Given the description of an element on the screen output the (x, y) to click on. 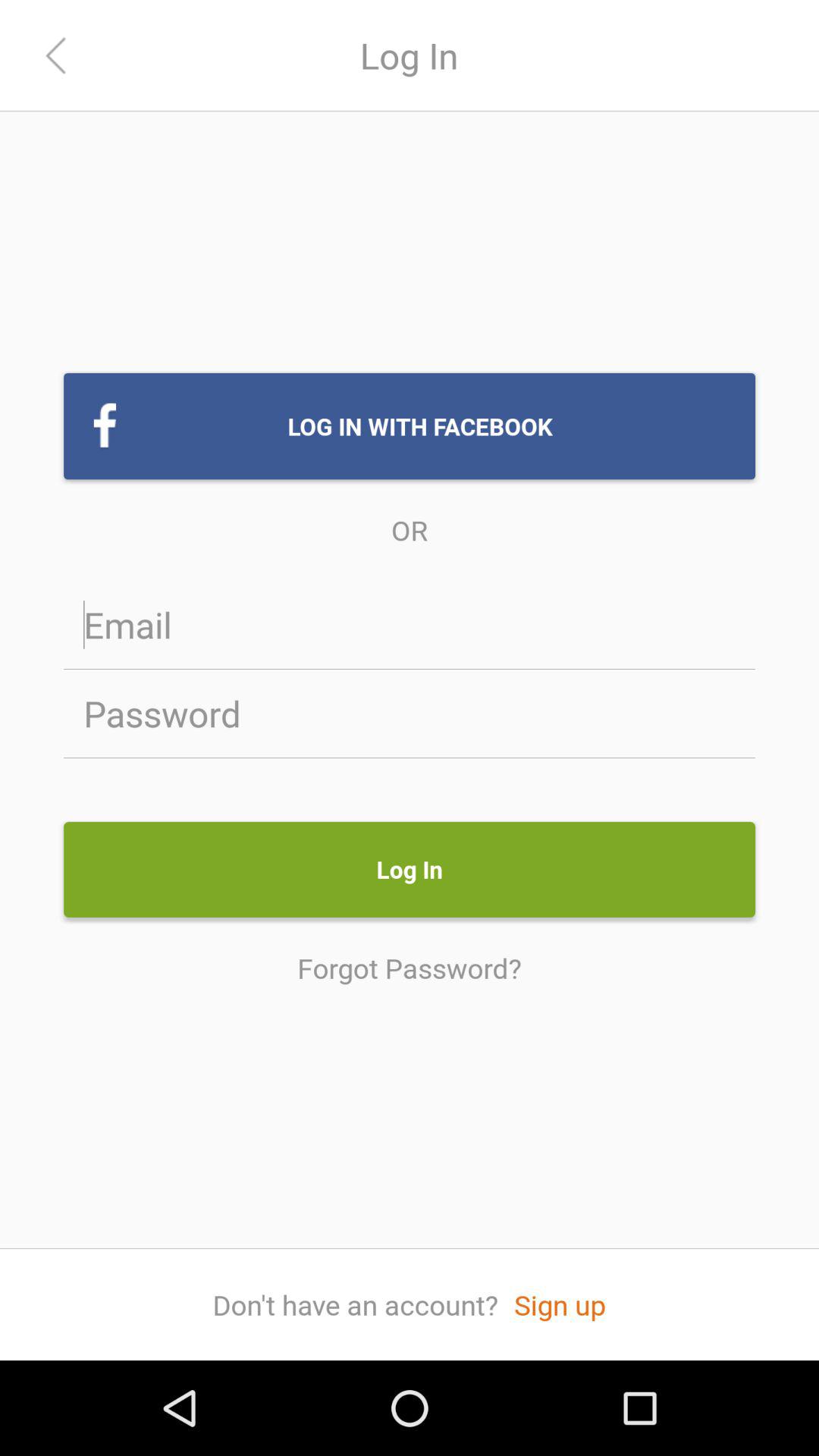
write password (409, 713)
